Given the description of an element on the screen output the (x, y) to click on. 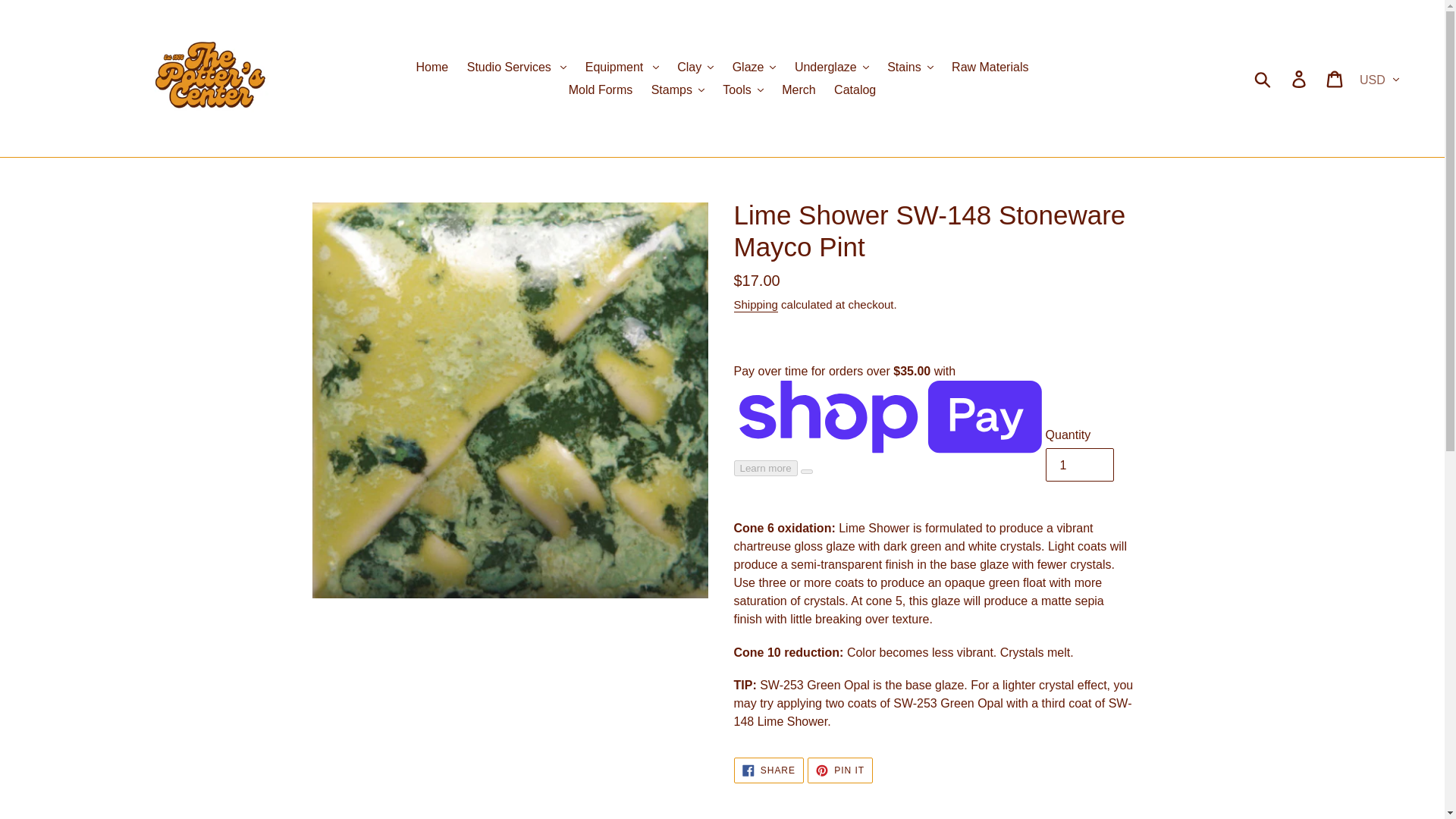
1 (1079, 464)
Home (433, 67)
